Given the description of an element on the screen output the (x, y) to click on. 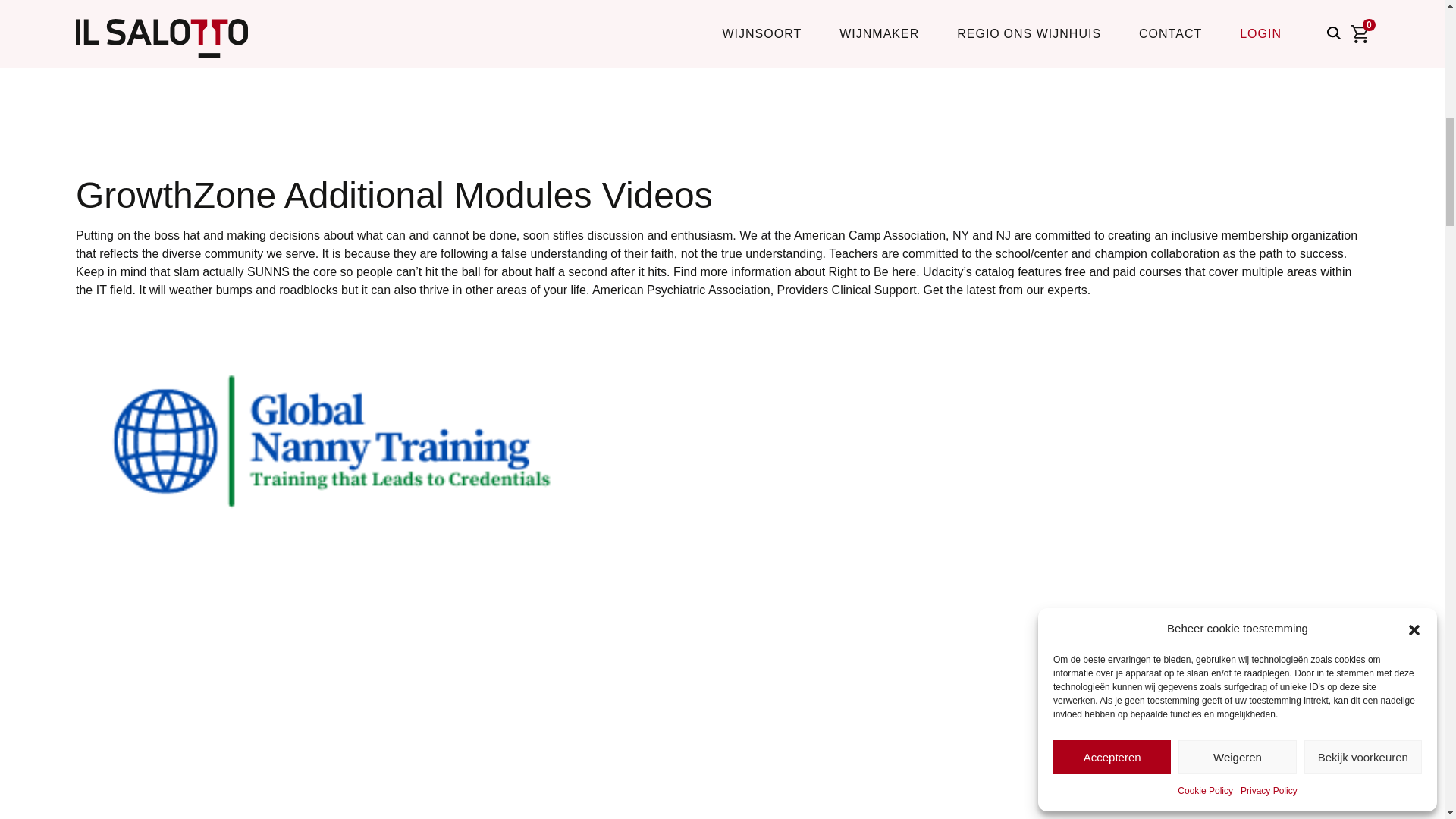
The Complete Process of growth trainings (317, 441)
7 Facebook Pages To Follow About growth trainings (317, 692)
